Given the description of an element on the screen output the (x, y) to click on. 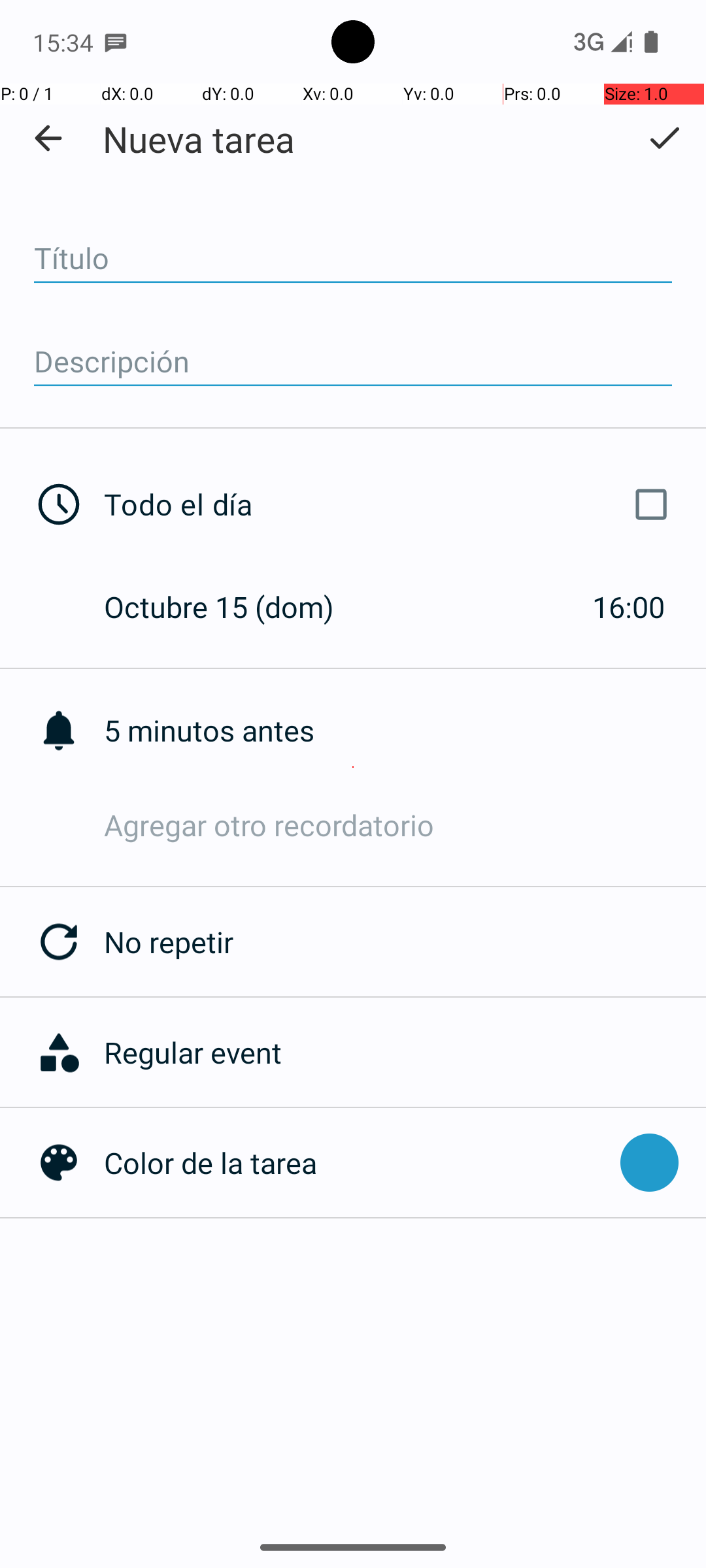
Nueva tarea Element type: android.widget.TextView (198, 138)
Título Element type: android.widget.EditText (352, 258)
Descripción Element type: android.widget.EditText (352, 361)
5 minutos antes Element type: android.widget.TextView (404, 729)
Agregar otro recordatorio Element type: android.widget.TextView (404, 824)
No repetir Element type: android.widget.TextView (404, 941)
Color de la tarea Element type: android.widget.TextView (354, 1162)
